Given the description of an element on the screen output the (x, y) to click on. 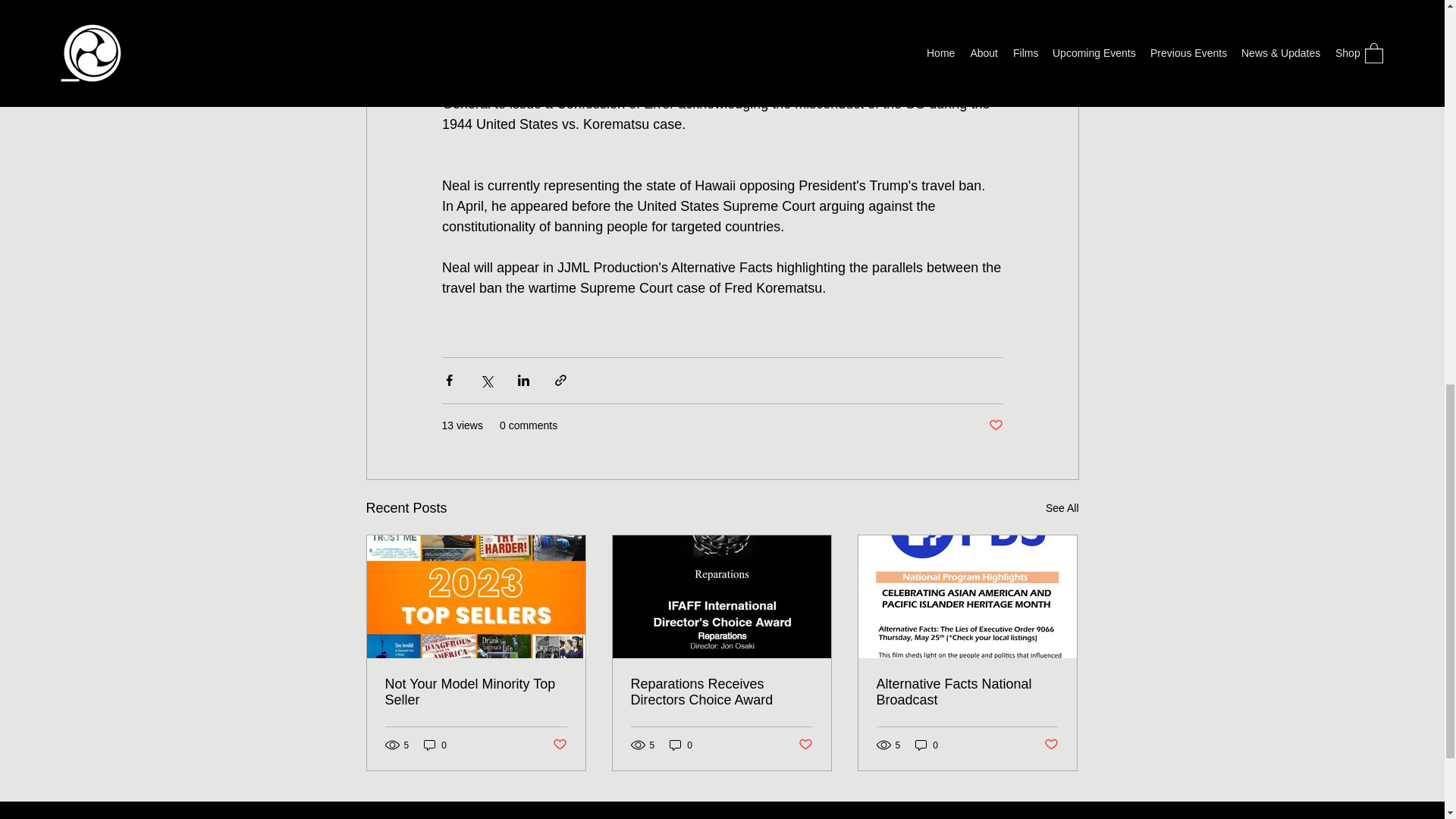
Reparations Receives Directors Choice Award (721, 692)
Post not marked as liked (804, 744)
Alternative Facts National Broadcast (967, 692)
Not Your Model Minority Top Seller (476, 692)
Post not marked as liked (995, 425)
0 (926, 744)
Post not marked as liked (558, 744)
0 (435, 744)
0 (681, 744)
See All (1061, 508)
Post not marked as liked (1050, 744)
